Given the description of an element on the screen output the (x, y) to click on. 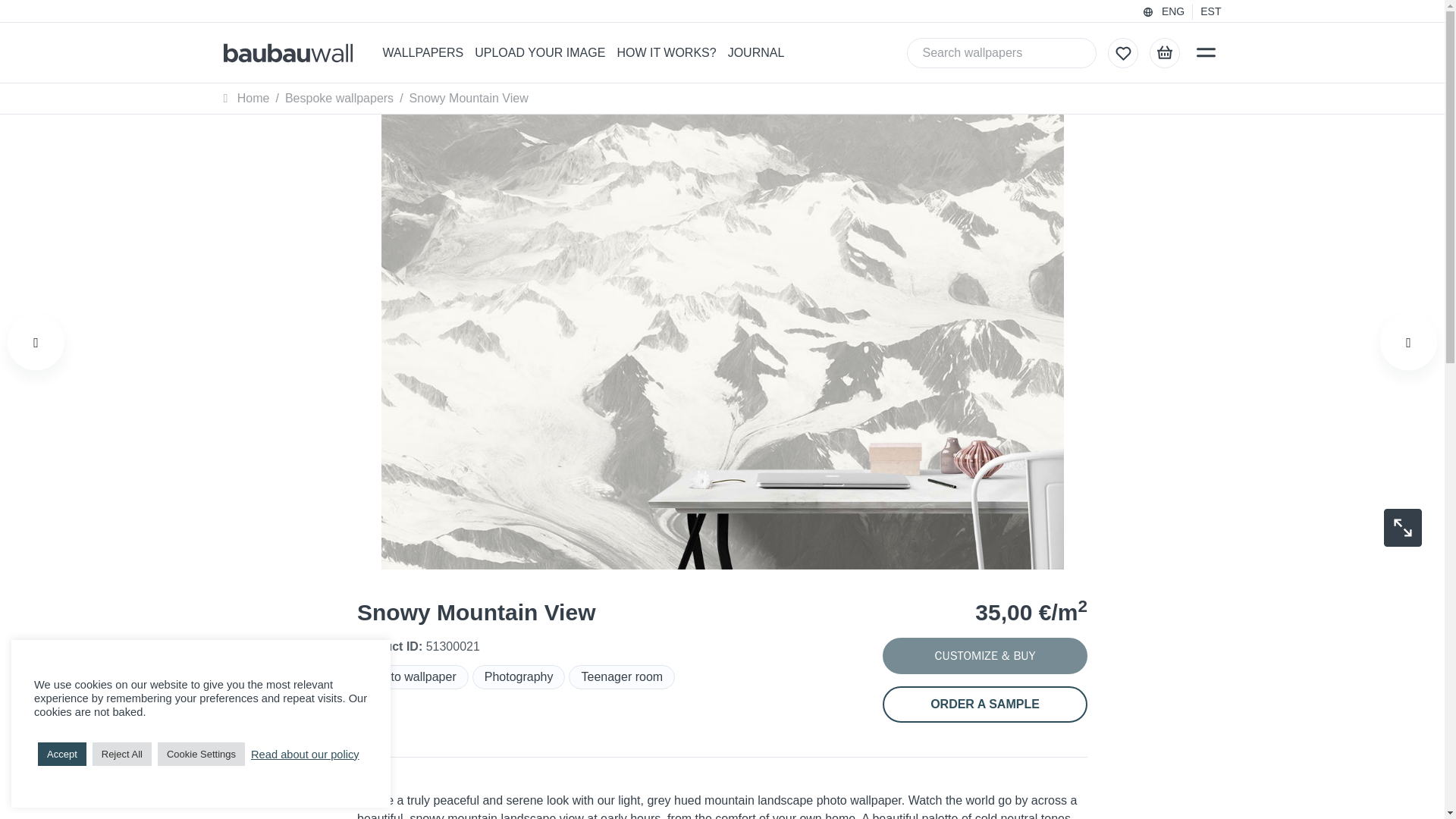
Snowy Mountain View (468, 97)
Home (245, 97)
JOURNAL (756, 53)
Bespoke wallpapers (339, 97)
HOW IT WORKS? (665, 53)
WALLPAPERS (422, 53)
EST (1210, 10)
UPLOAD YOUR IMAGE (539, 53)
